Given the description of an element on the screen output the (x, y) to click on. 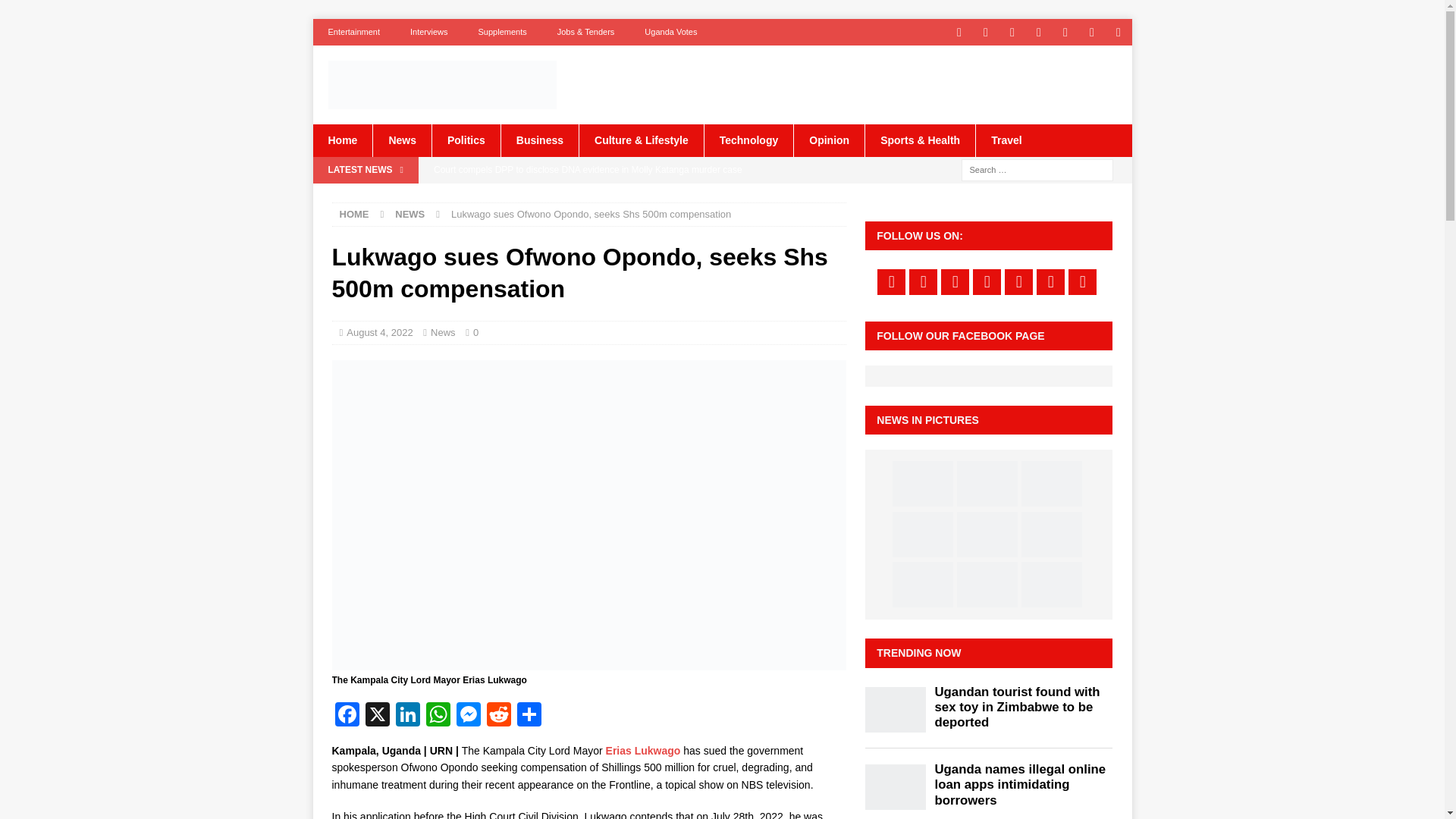
Uganda Votes (669, 31)
Home (342, 140)
Travel (1005, 140)
Facebook (346, 715)
Business (539, 140)
Reddit (498, 715)
NEWS (409, 214)
